Given the description of an element on the screen output the (x, y) to click on. 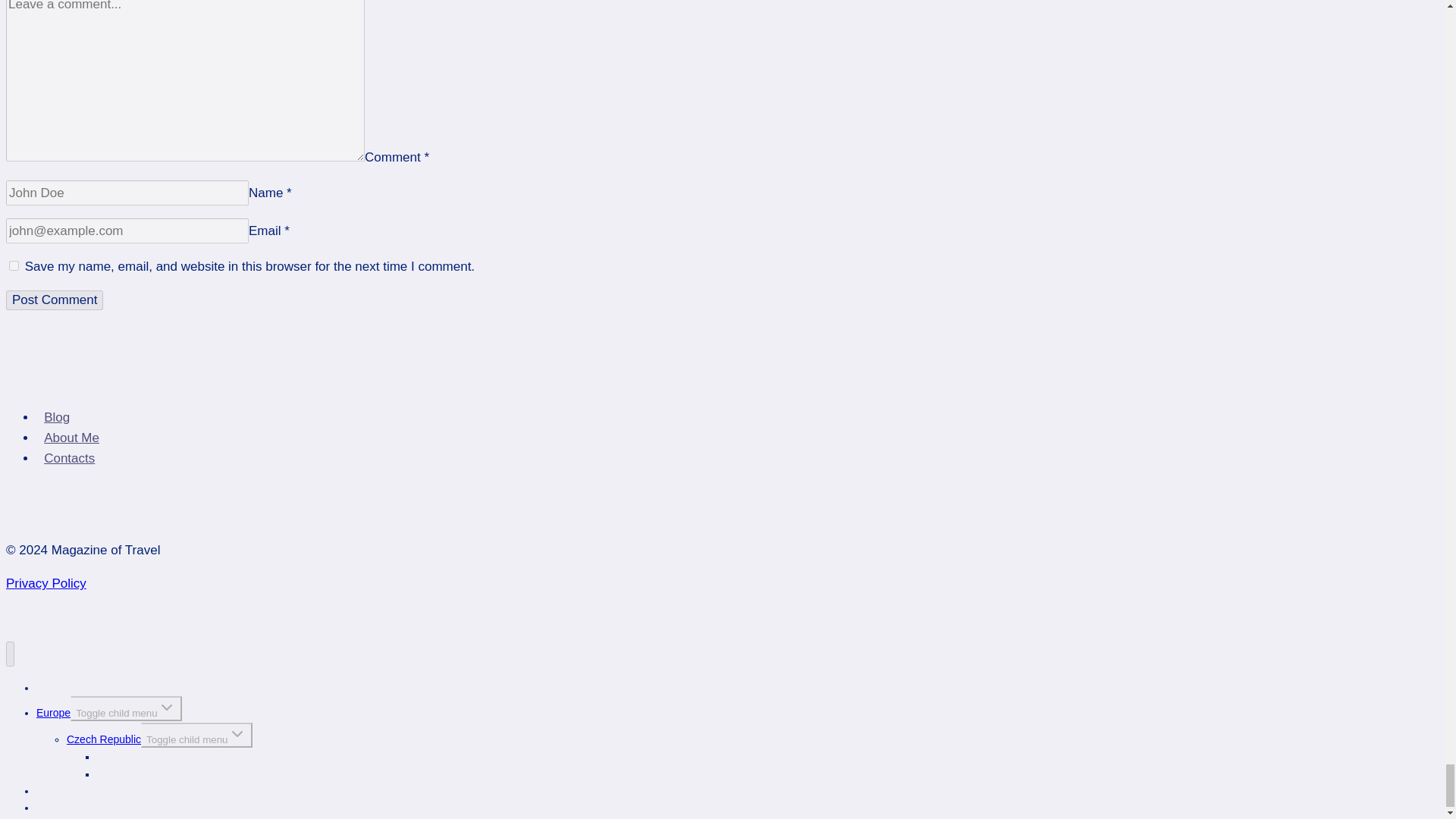
Expand (166, 707)
Expand (236, 733)
yes (13, 266)
Post Comment (54, 300)
